Given the description of an element on the screen output the (x, y) to click on. 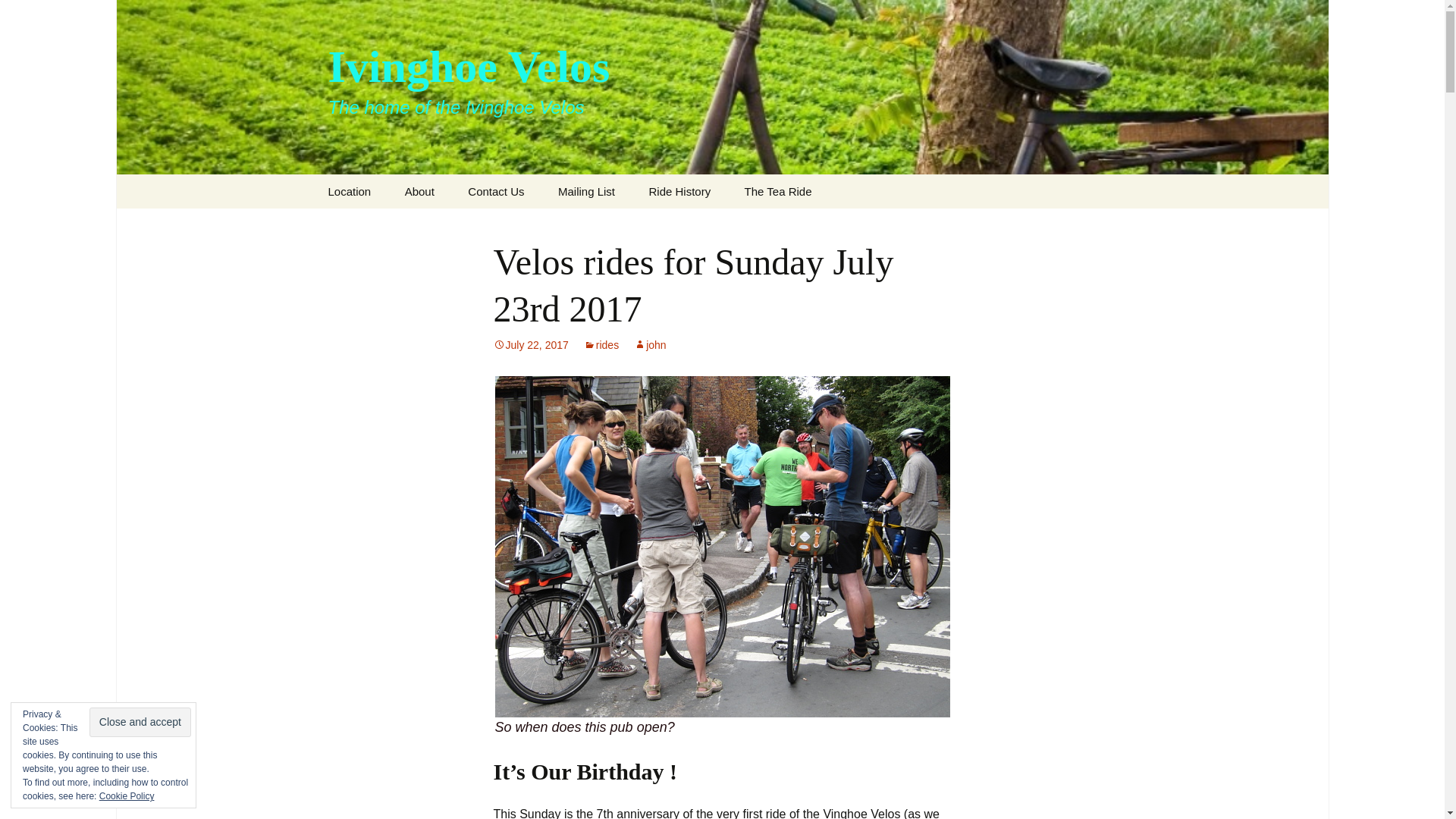
Location (349, 191)
Contact Us (495, 191)
john (649, 345)
Search (18, 15)
July 22, 2017 (530, 345)
View all posts by john (649, 345)
Mailing List (586, 191)
rides (600, 345)
The Tea Ride (778, 191)
Close and accept (139, 722)
About (419, 191)
Search (34, 15)
Permalink to Velos rides for Sunday July 23rd 2017 (530, 345)
